Given the description of an element on the screen output the (x, y) to click on. 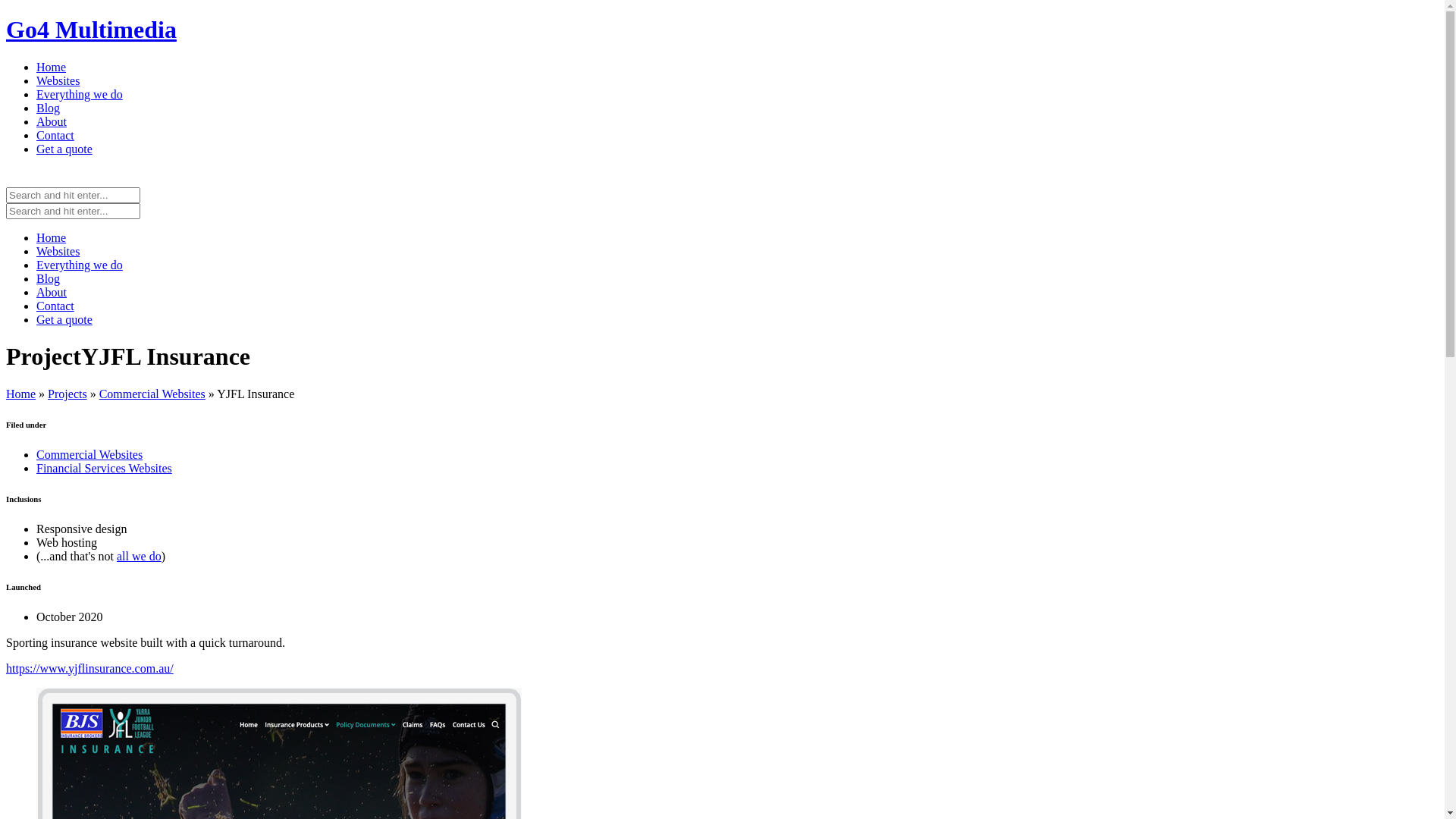
Websites Element type: text (57, 80)
Go4 Multimedia Element type: text (91, 29)
Websites Element type: text (57, 250)
About Element type: text (51, 121)
Home Element type: text (50, 66)
https://www.yjflinsurance.com.au/ Element type: text (89, 668)
Everything we do Element type: text (79, 264)
Everything we do Element type: text (79, 93)
Home Element type: text (20, 393)
all we do Element type: text (138, 555)
Get a quote Element type: text (64, 148)
Contact Element type: text (55, 134)
Blog Element type: text (47, 107)
Contact Element type: text (55, 305)
Financial Services Websites Element type: text (104, 467)
Commercial Websites Element type: text (152, 393)
Home Element type: text (50, 237)
Commercial Websites Element type: text (89, 454)
About Element type: text (51, 291)
Blog Element type: text (47, 278)
Projects Element type: text (67, 393)
Get a quote Element type: text (64, 319)
